Given the description of an element on the screen output the (x, y) to click on. 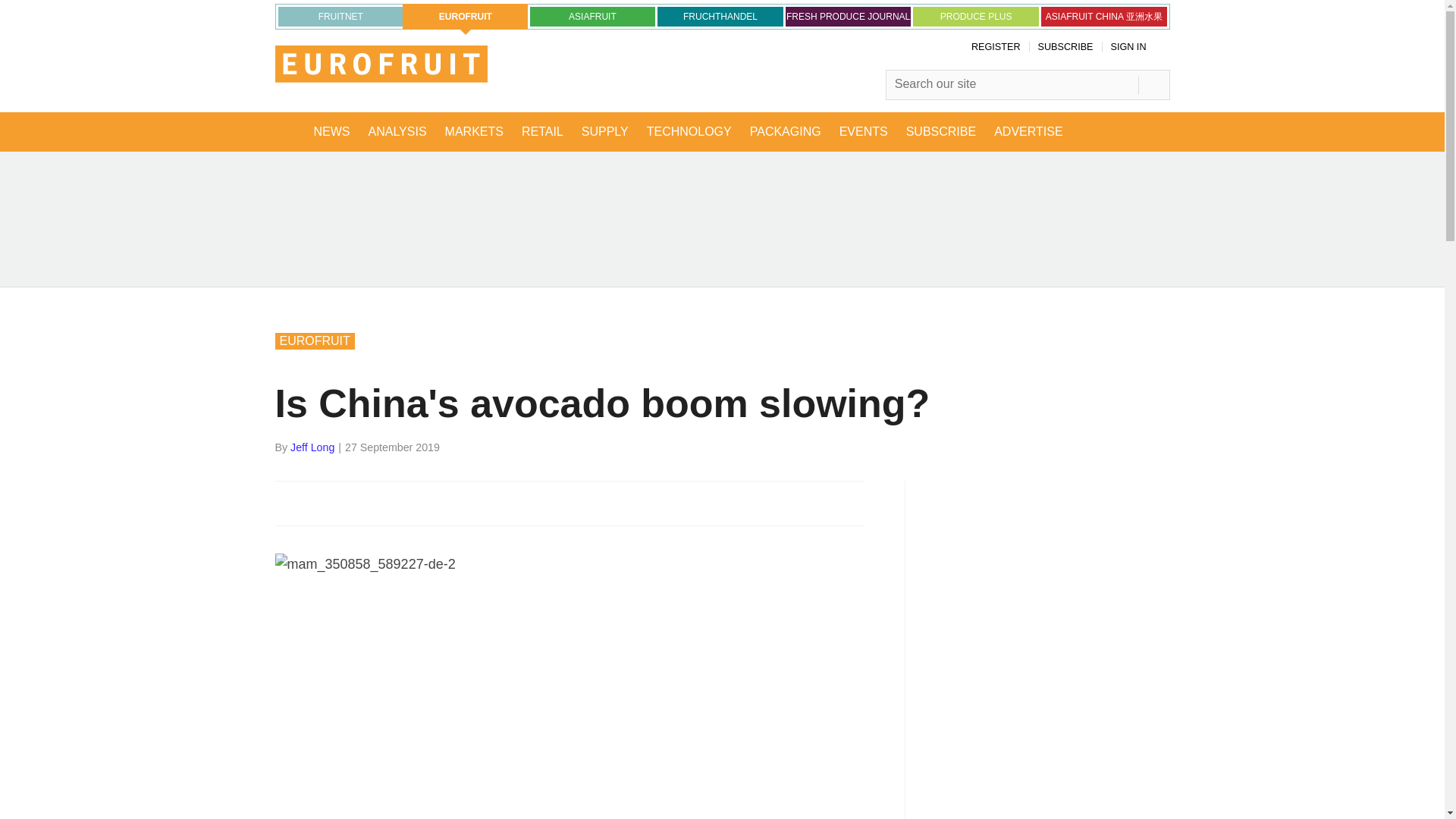
Share this on Twitter (320, 502)
REGISTER (995, 46)
FRUITNET (340, 16)
FRESH PRODUCE JOURNAL (848, 16)
Share this on Facebook (288, 502)
NEWS (331, 131)
SUBSCRIBE (1065, 46)
MARKETS (473, 131)
ASIAFRUIT (592, 16)
SEARCH (1153, 84)
